Given the description of an element on the screen output the (x, y) to click on. 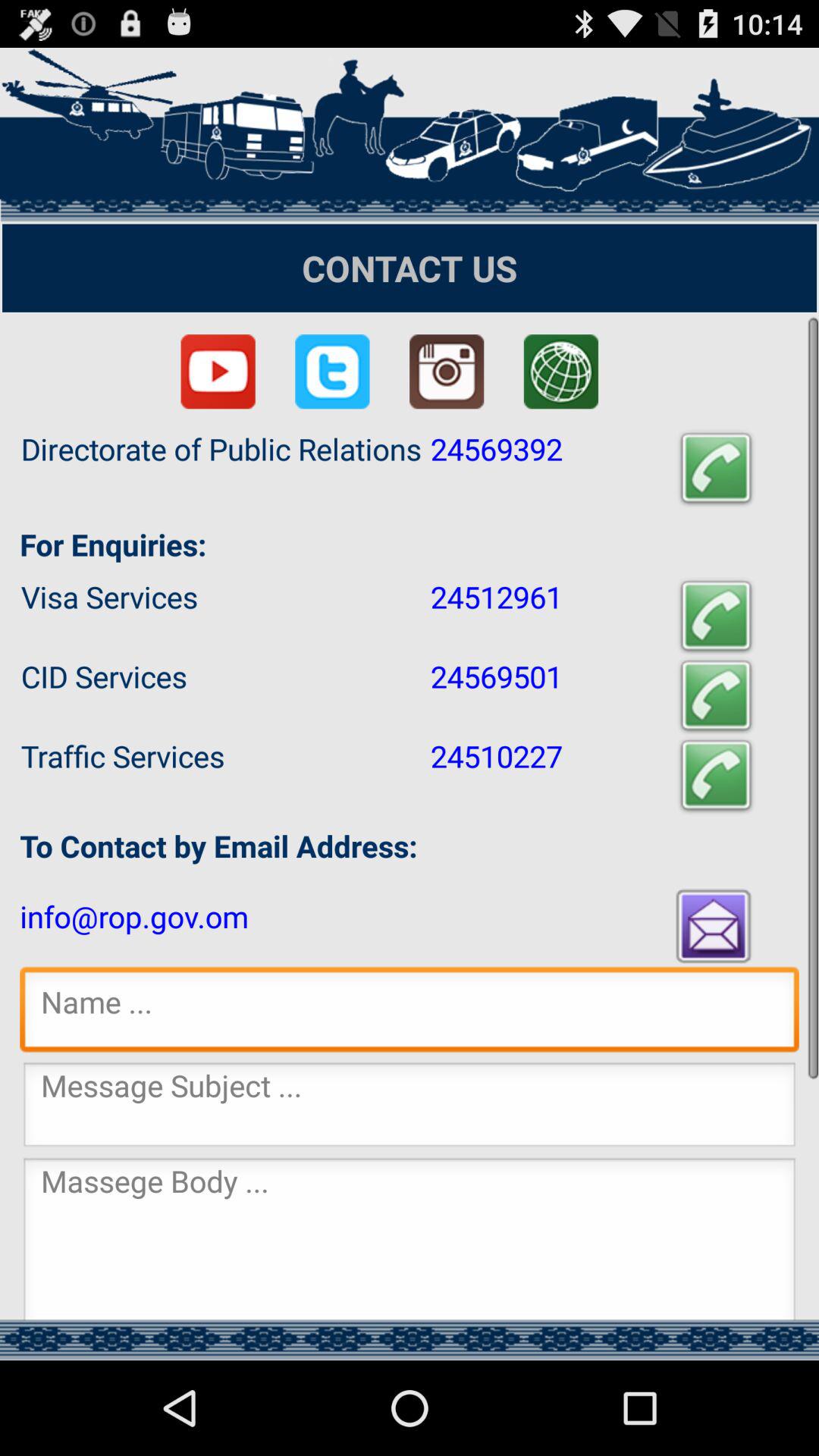
press item above the 24510227 item (716, 695)
